Given the description of an element on the screen output the (x, y) to click on. 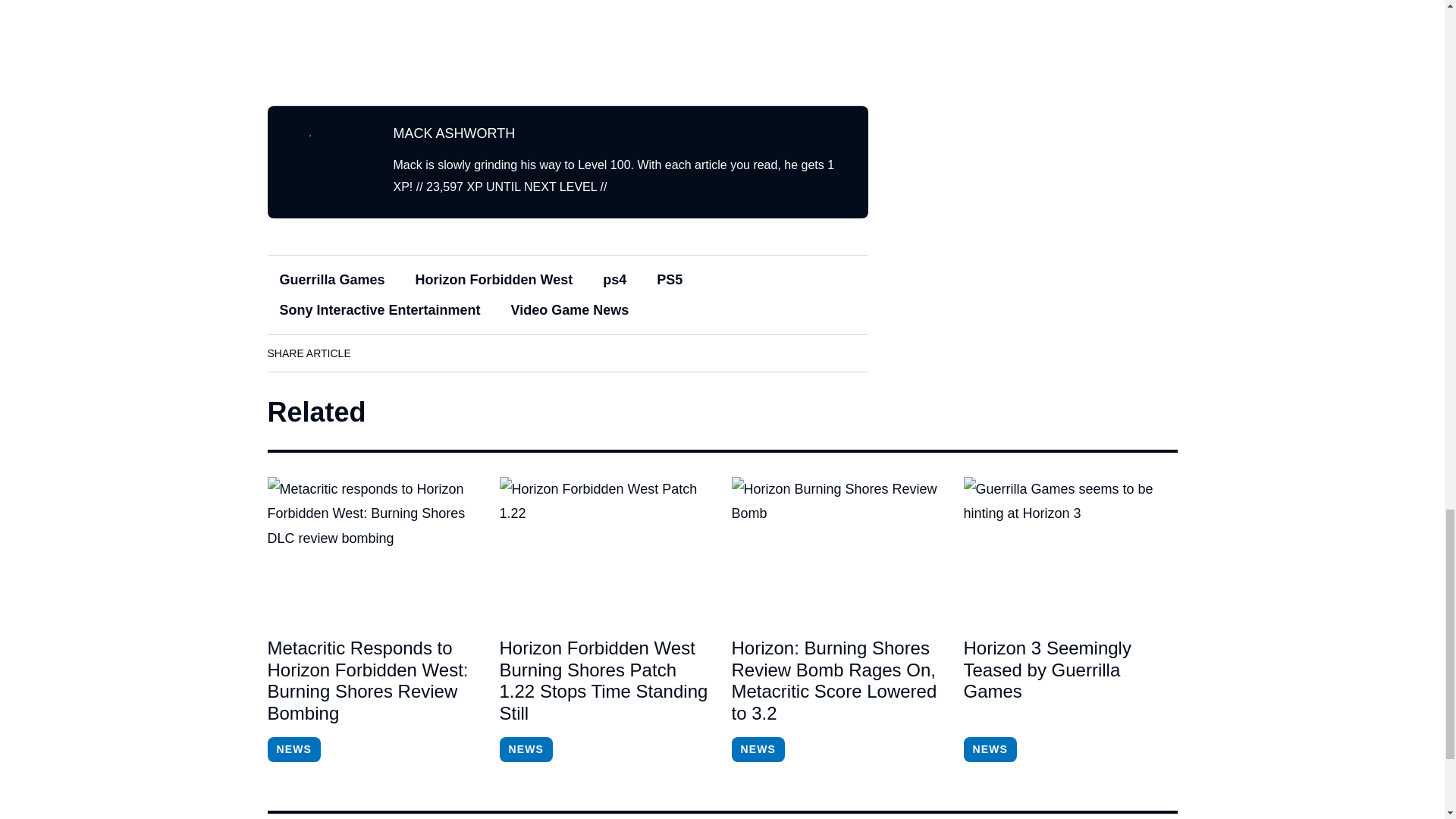
Guerrilla Games (331, 279)
ps4 (615, 279)
PS5 (669, 279)
Facebook (377, 353)
Twitter (463, 353)
Sony Interactive Entertainment (379, 310)
Horizon Forbidden West (494, 279)
Video Game News (570, 310)
Horizon 3 Seemingly Teased by Guerrilla Games (1069, 681)
LinkedIn (420, 353)
